Given the description of an element on the screen output the (x, y) to click on. 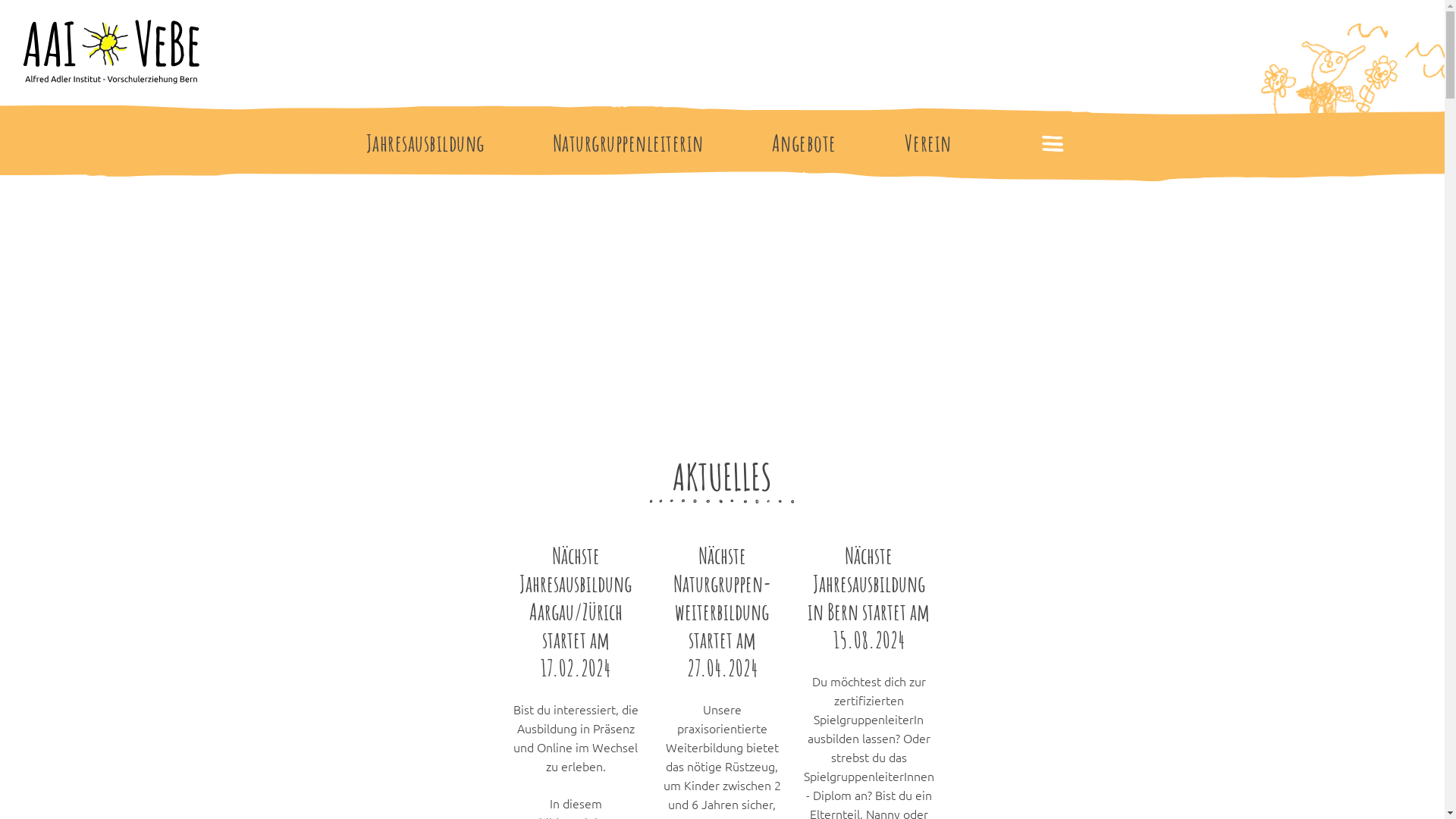
Jahresausbildung Element type: text (424, 143)
Naturgruppenleiterin Element type: text (627, 143)
Angebote Element type: text (803, 143)
Verein Element type: text (926, 143)
